Given the description of an element on the screen output the (x, y) to click on. 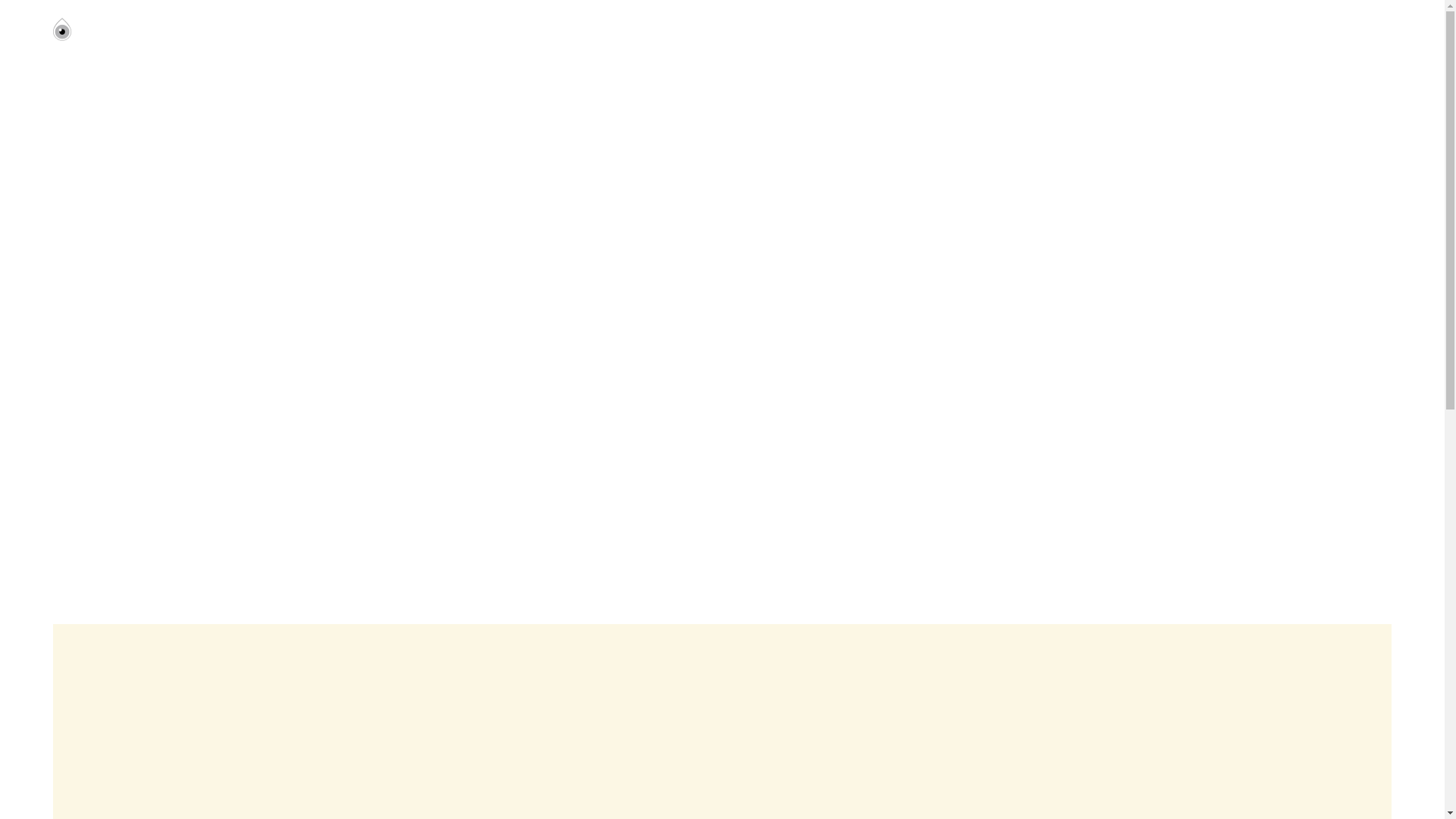
Products Element type: text (1174, 30)
Stockists Element type: text (1342, 30)
About Dry Eye Element type: text (1061, 30)
My Dry Eyes Element type: hover (103, 29)
FAQ Element type: text (1258, 30)
